Given the description of an element on the screen output the (x, y) to click on. 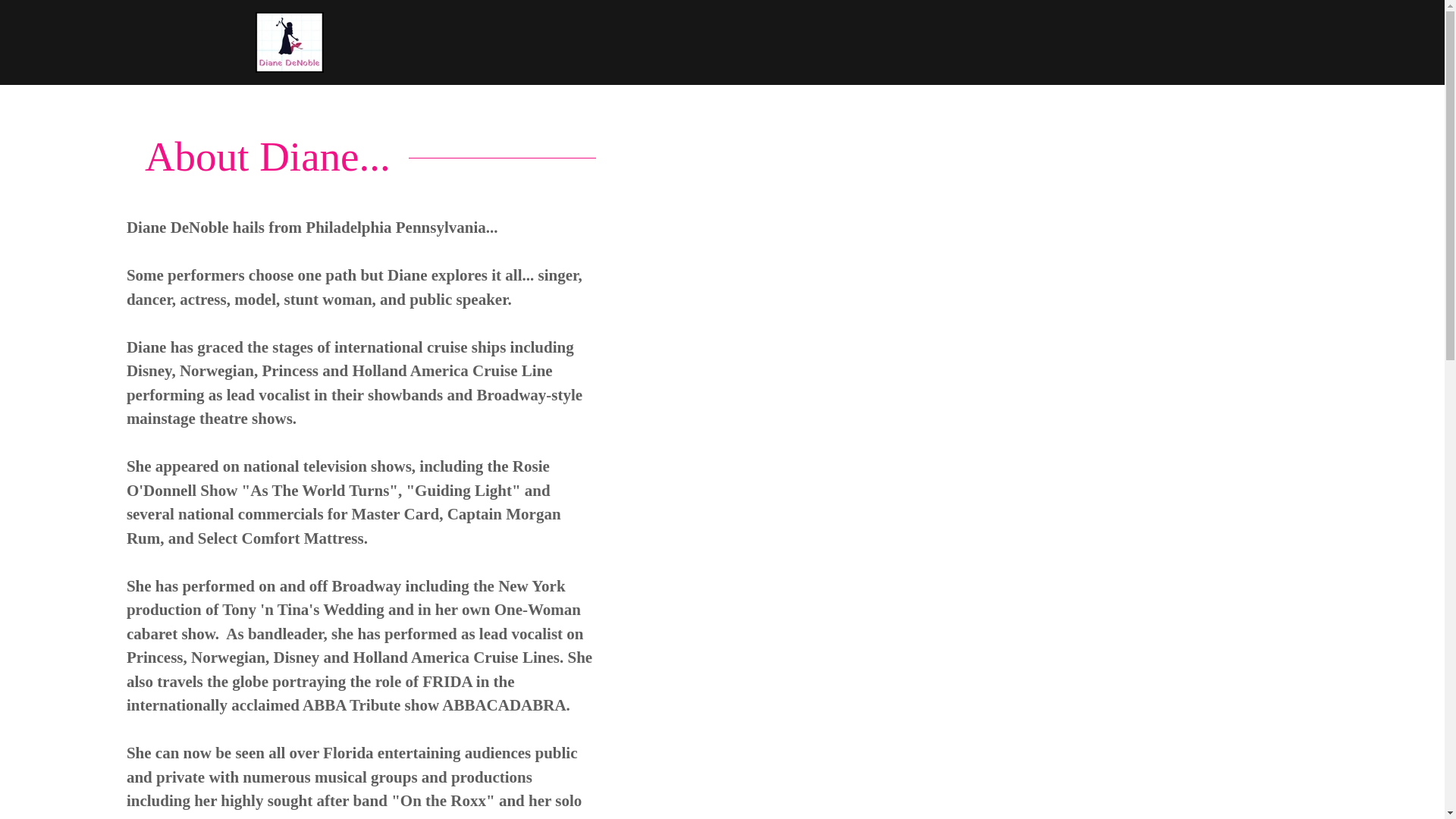
Diane DeNoble (288, 40)
